Given the description of an element on the screen output the (x, y) to click on. 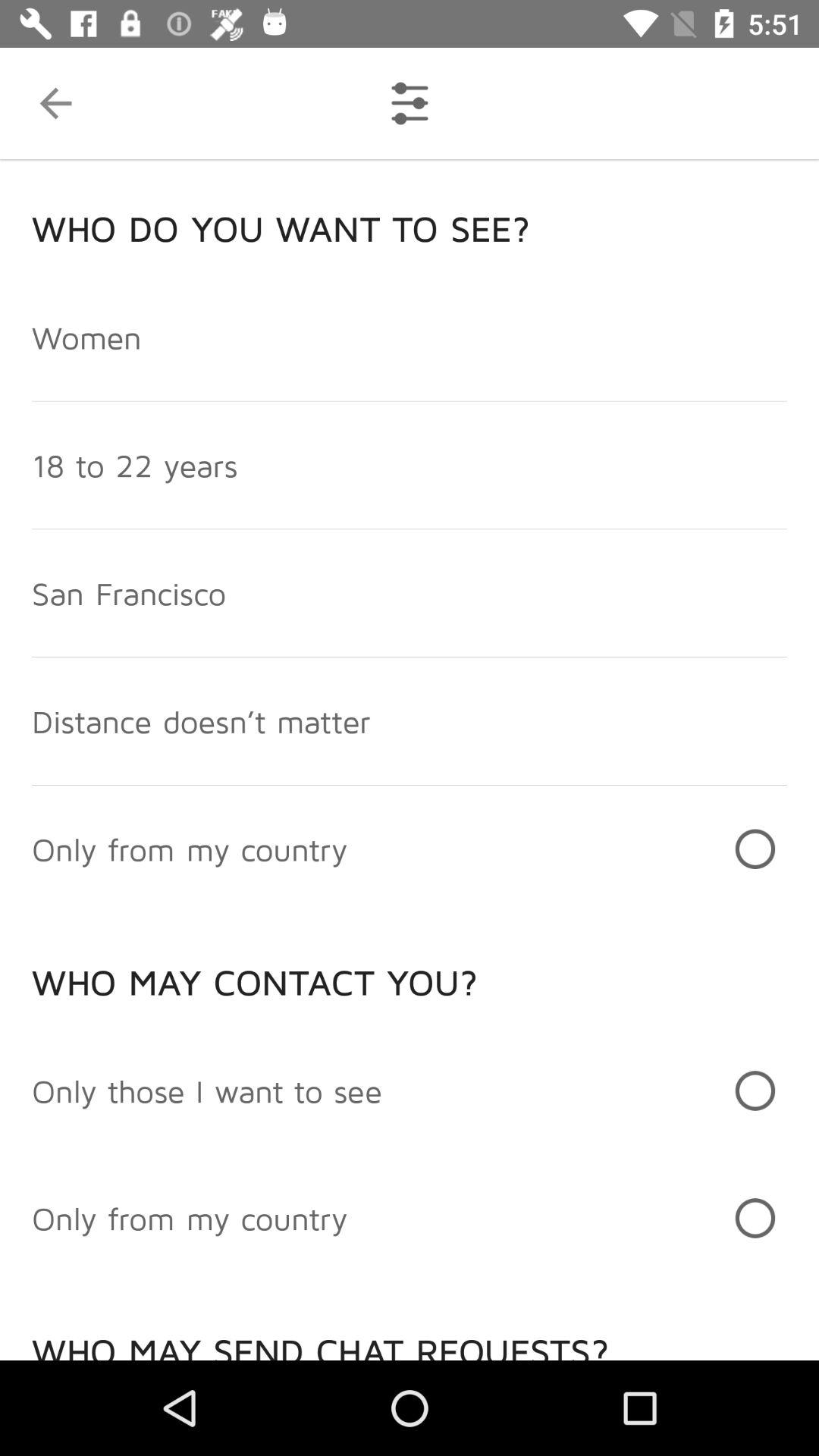
choose item below the who do you item (86, 336)
